Given the description of an element on the screen output the (x, y) to click on. 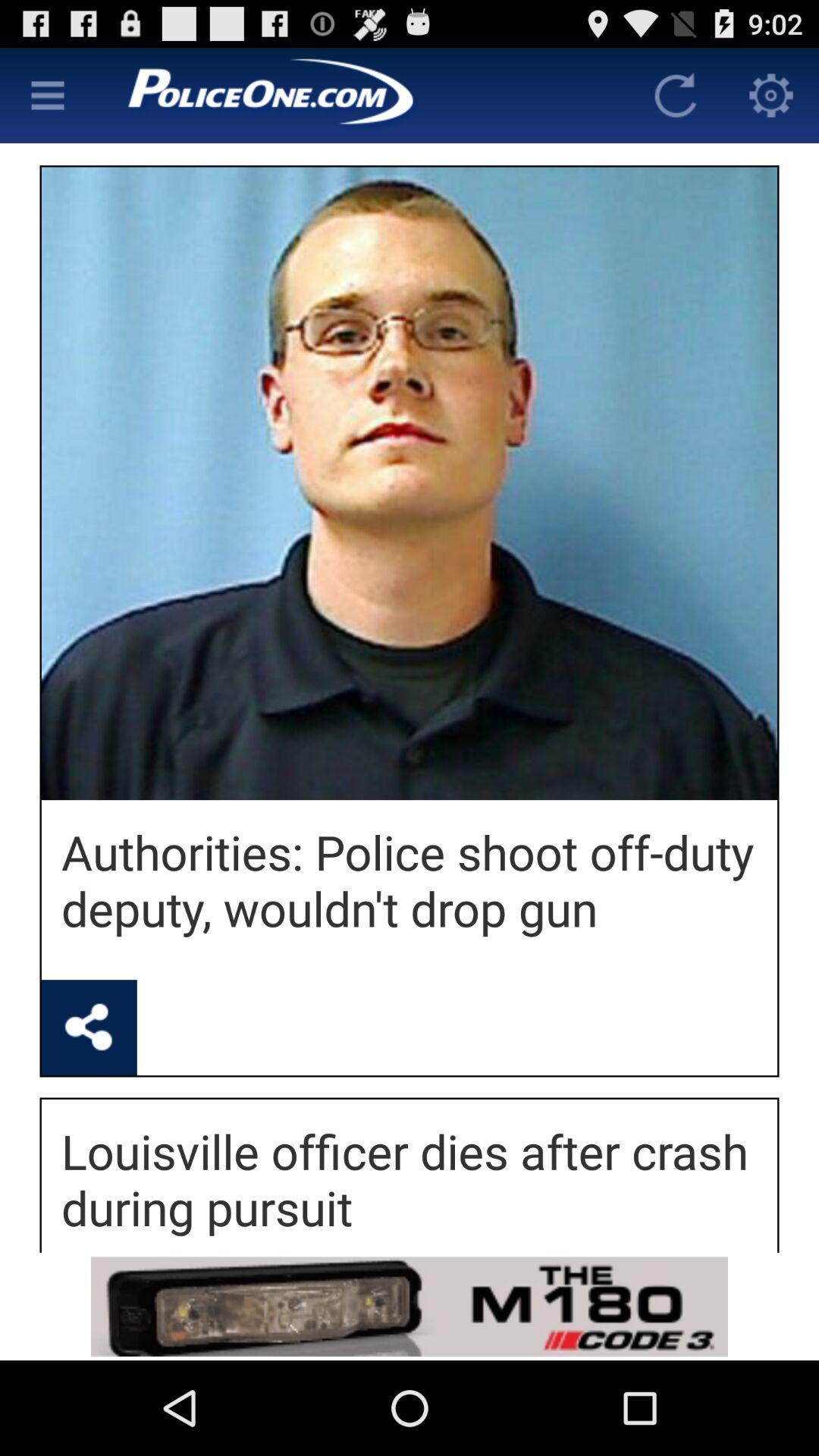
refresh the page (675, 95)
